Given the description of an element on the screen output the (x, y) to click on. 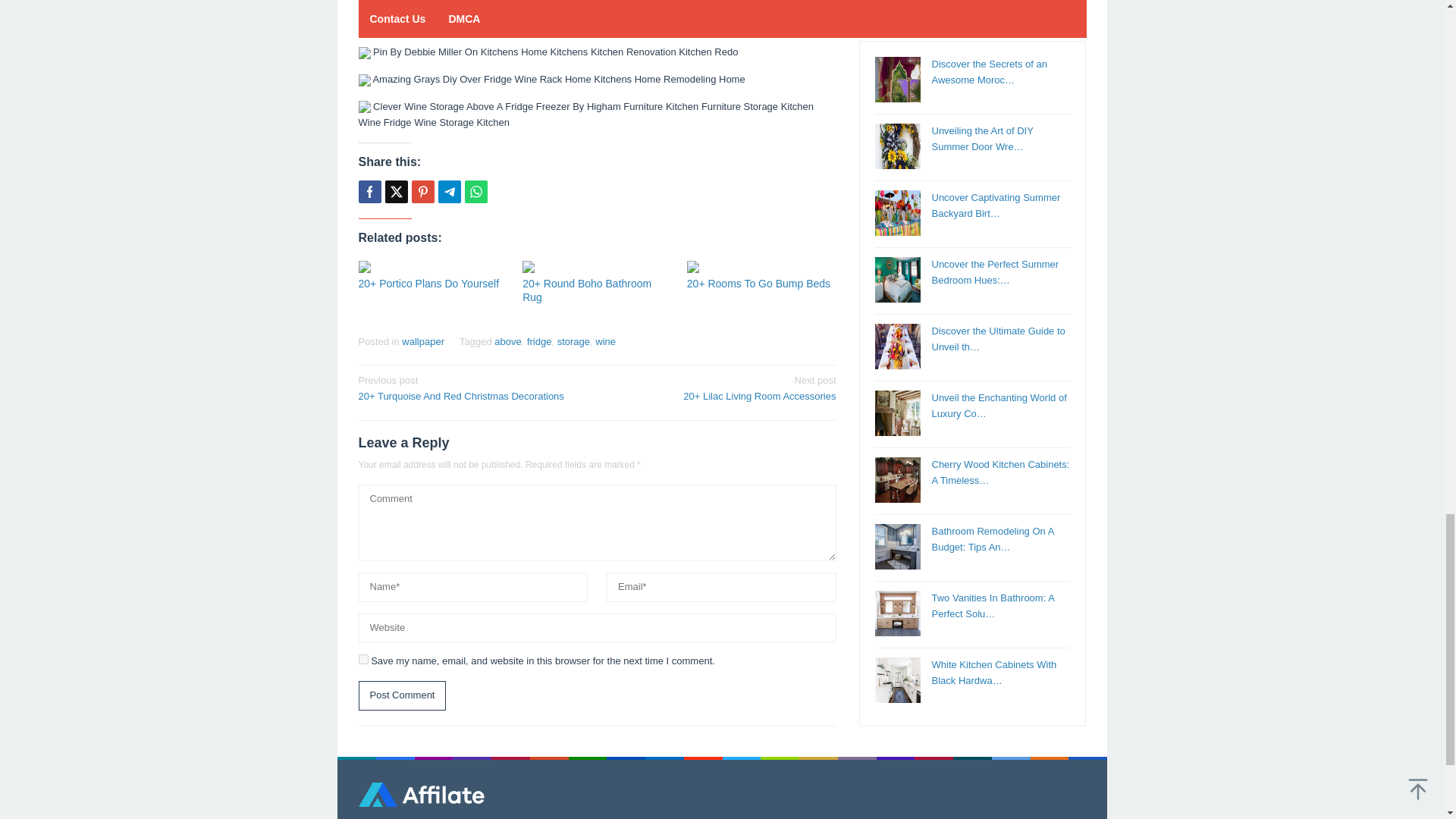
yes (363, 659)
Share this (369, 191)
Telegram Share (449, 191)
Whatsapp (475, 191)
Post Comment (401, 695)
Tweet this (396, 191)
Pin this (421, 191)
